Given the description of an element on the screen output the (x, y) to click on. 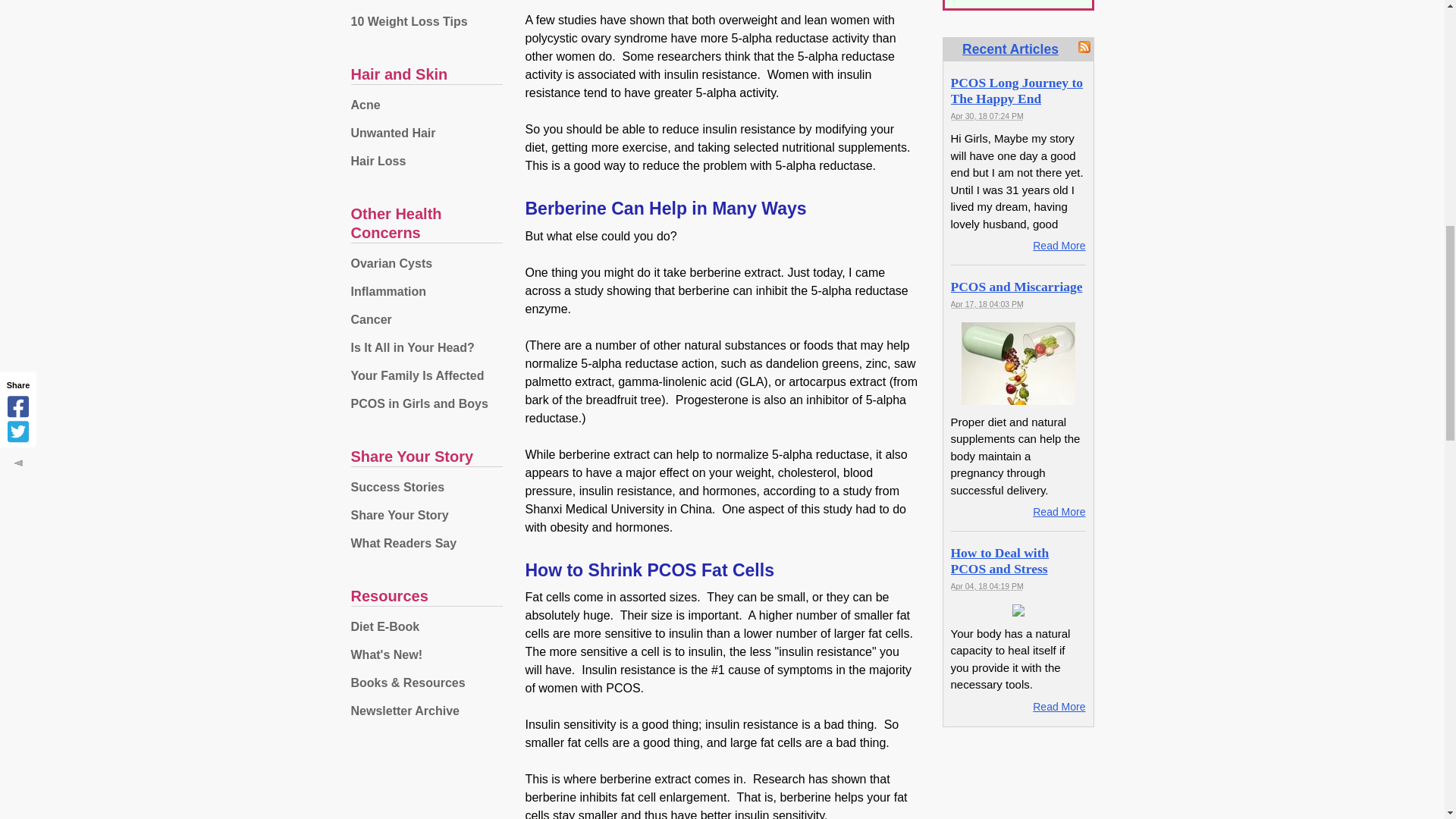
Unwanted Hair (426, 133)
Why You Are Heavy (426, 3)
Hair Loss (426, 161)
Ovarian Cysts (426, 263)
2018-04-30T19:24:58-0400 (986, 115)
2018-04-17T16:03:15-0400 (986, 303)
Acne (426, 104)
2018-04-04T16:19:37-0400 (986, 585)
10 Weight Loss Tips (426, 22)
